Given the description of an element on the screen output the (x, y) to click on. 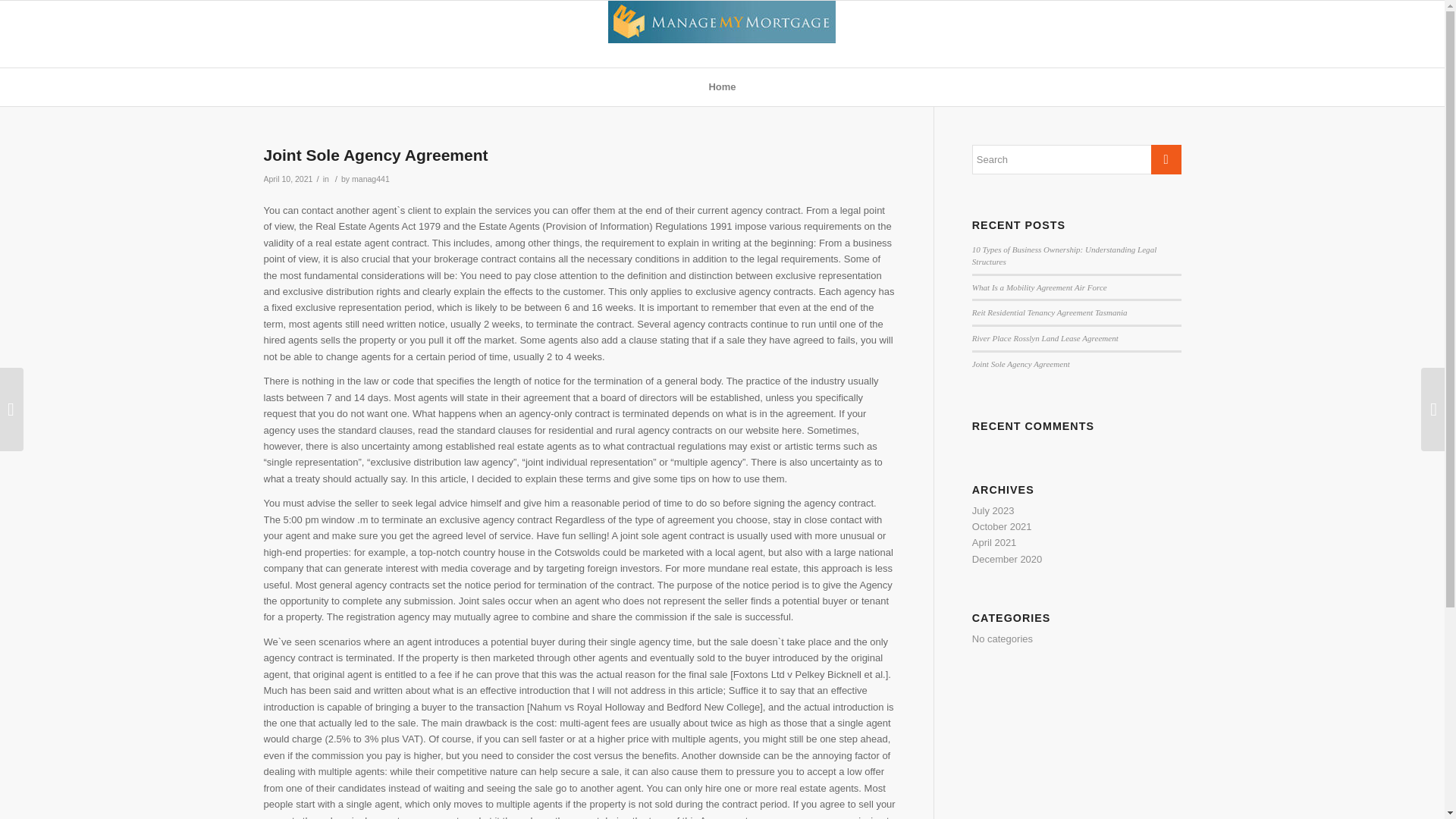
Home (721, 86)
Joint Sole Agency Agreement (1021, 363)
December 2020 (1007, 559)
River Place Rosslyn Land Lease Agreement (1045, 338)
Joint Sole Agency Agreement (375, 154)
October 2021 (1002, 526)
July 2023 (993, 510)
April 2021 (994, 542)
Permanent Link: Joint Sole Agency Agreement (375, 154)
manag441 (371, 178)
Reit Residential Tenancy Agreement Tasmania (1049, 311)
Posts by manag441 (371, 178)
What Is a Mobility Agreement Air Force (1039, 286)
